Given the description of an element on the screen output the (x, y) to click on. 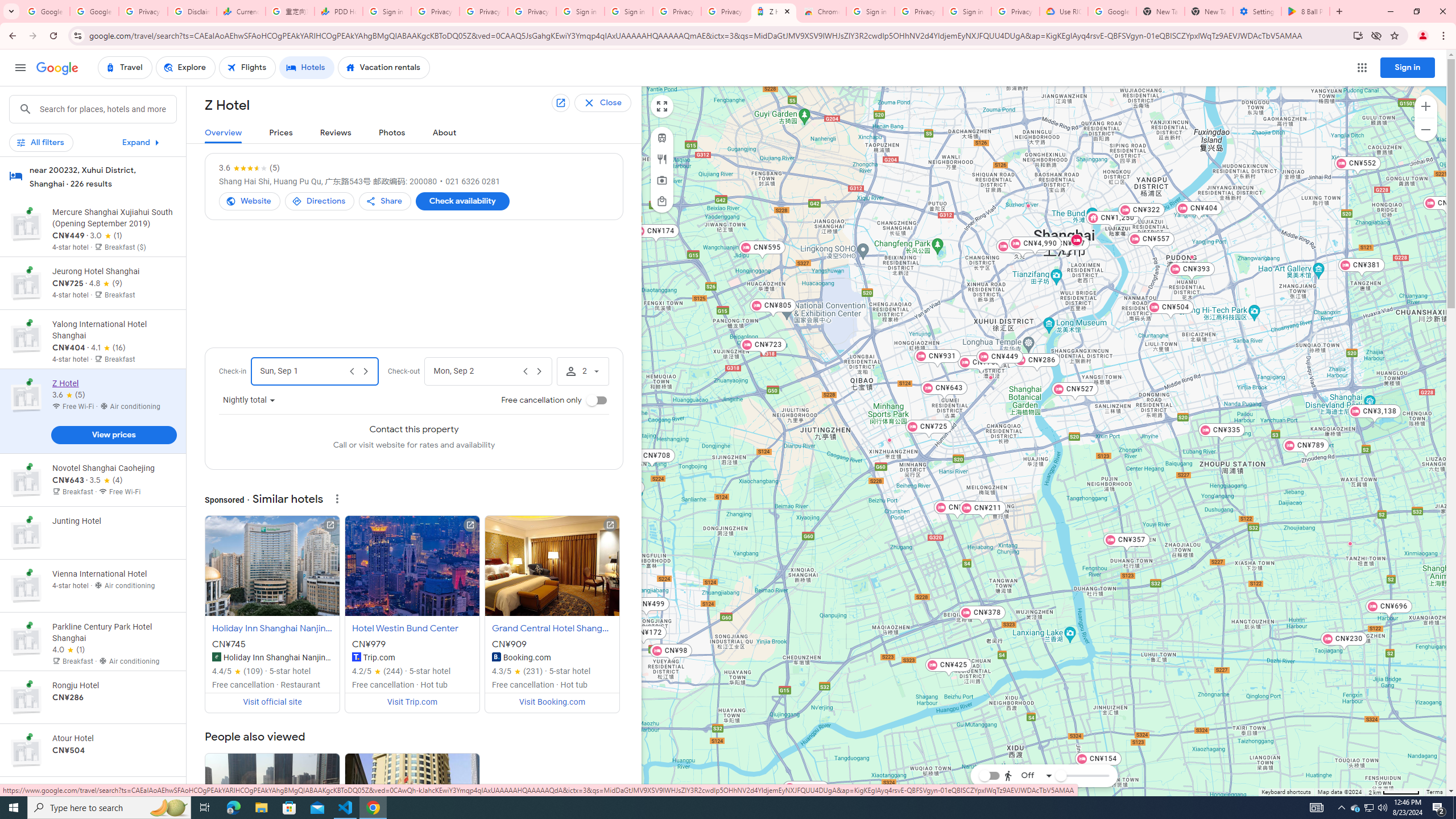
3.5 out of 5 stars from 4 reviews (105, 480)
Sign in - Google Accounts (387, 11)
Directions (319, 200)
Booking.com (496, 656)
Install Trips all in one place (1358, 35)
4.2 out of 5 stars from 244 reviews (377, 671)
Drive (1025, 743)
